Given the description of an element on the screen output the (x, y) to click on. 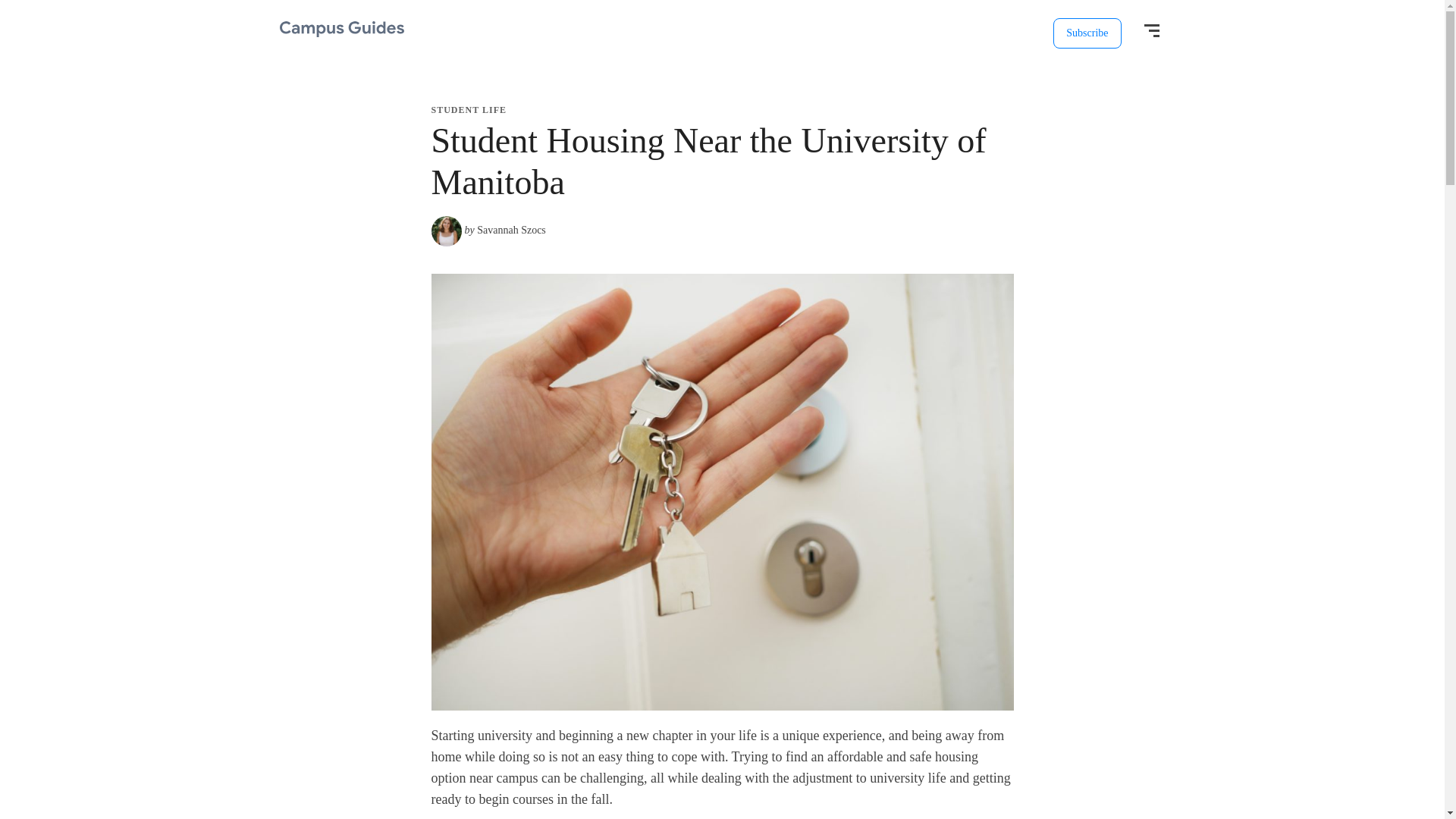
STUDENT LIFE (467, 109)
Savannah Szocs (511, 229)
Subscribe (1086, 33)
